Given the description of an element on the screen output the (x, y) to click on. 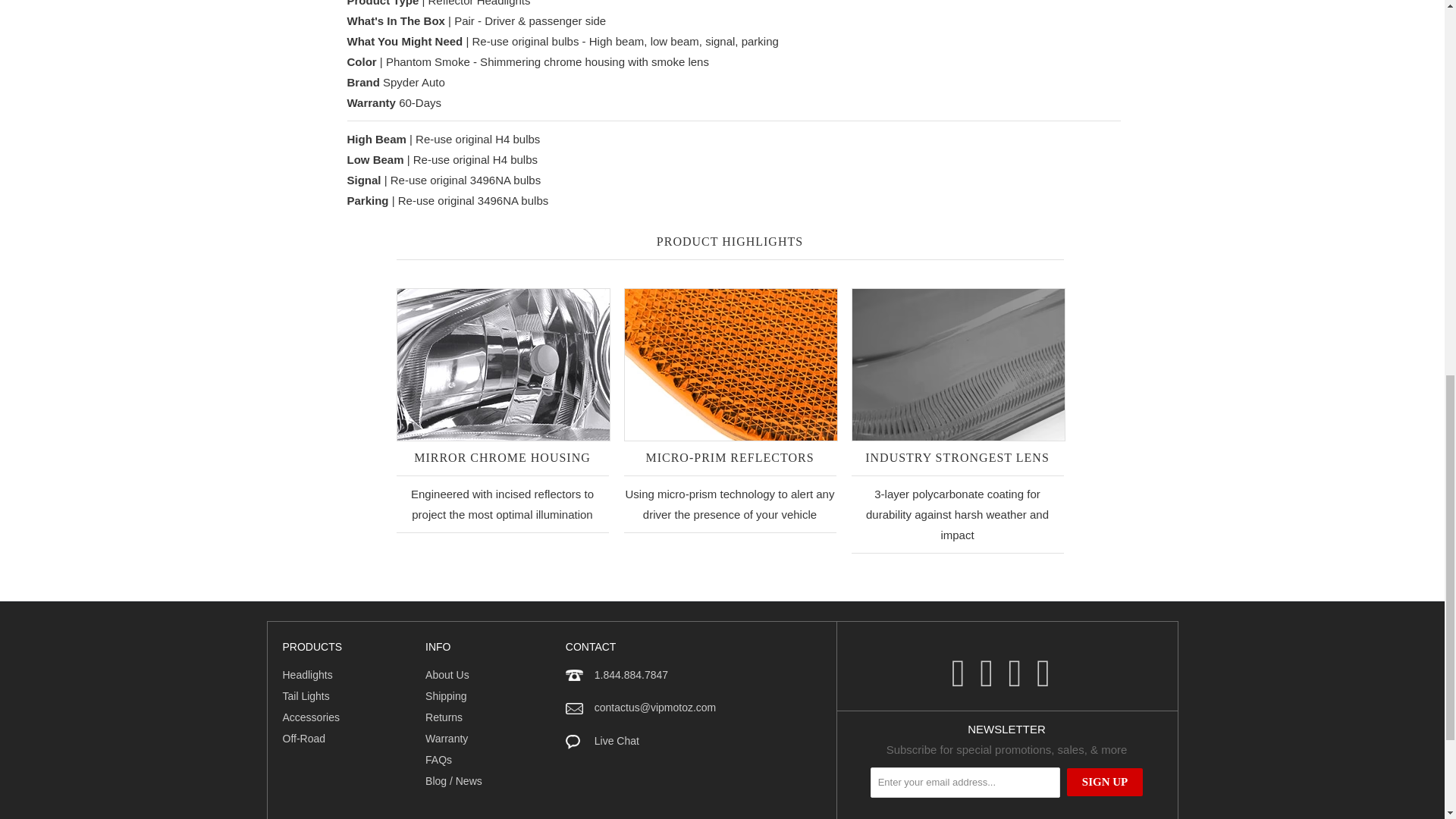
Sign Up (1104, 782)
